Given the description of an element on the screen output the (x, y) to click on. 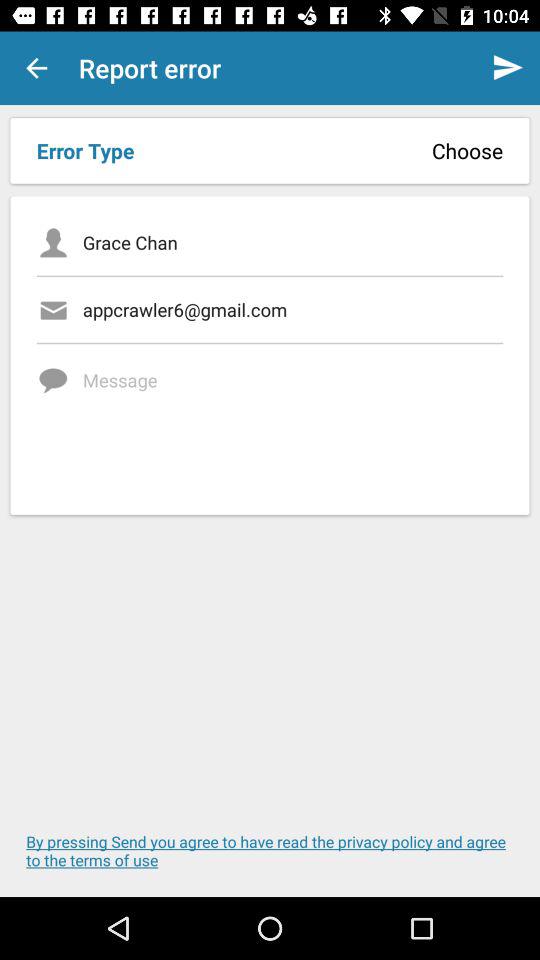
message text box (292, 422)
